Given the description of an element on the screen output the (x, y) to click on. 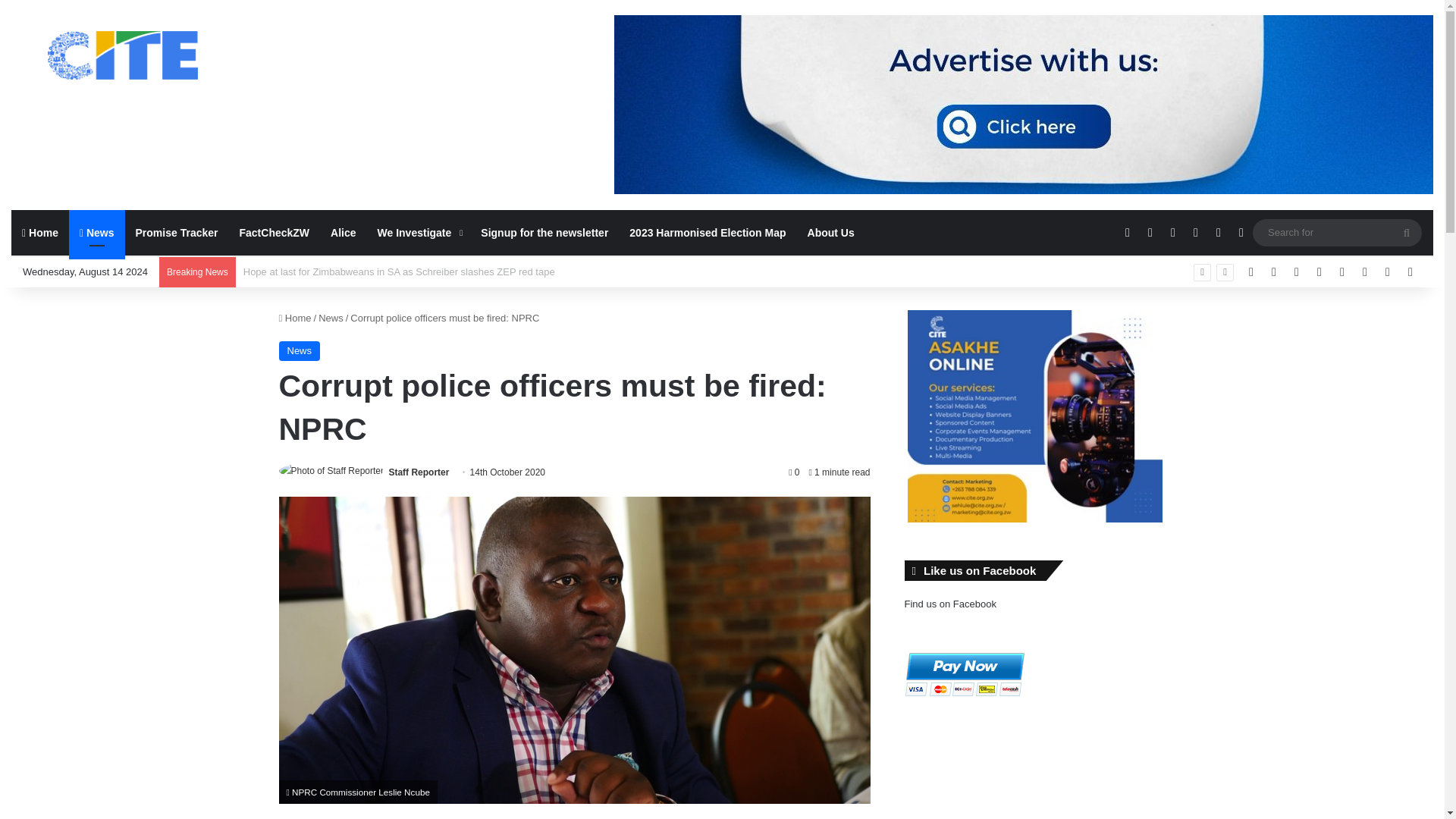
Search for (1406, 232)
Search for (1337, 231)
Signup for the newsletter (544, 232)
Staff Reporter (418, 471)
About Us (830, 232)
News (299, 351)
Promise Tracker (176, 232)
Home (295, 317)
Alice (343, 232)
